Given the description of an element on the screen output the (x, y) to click on. 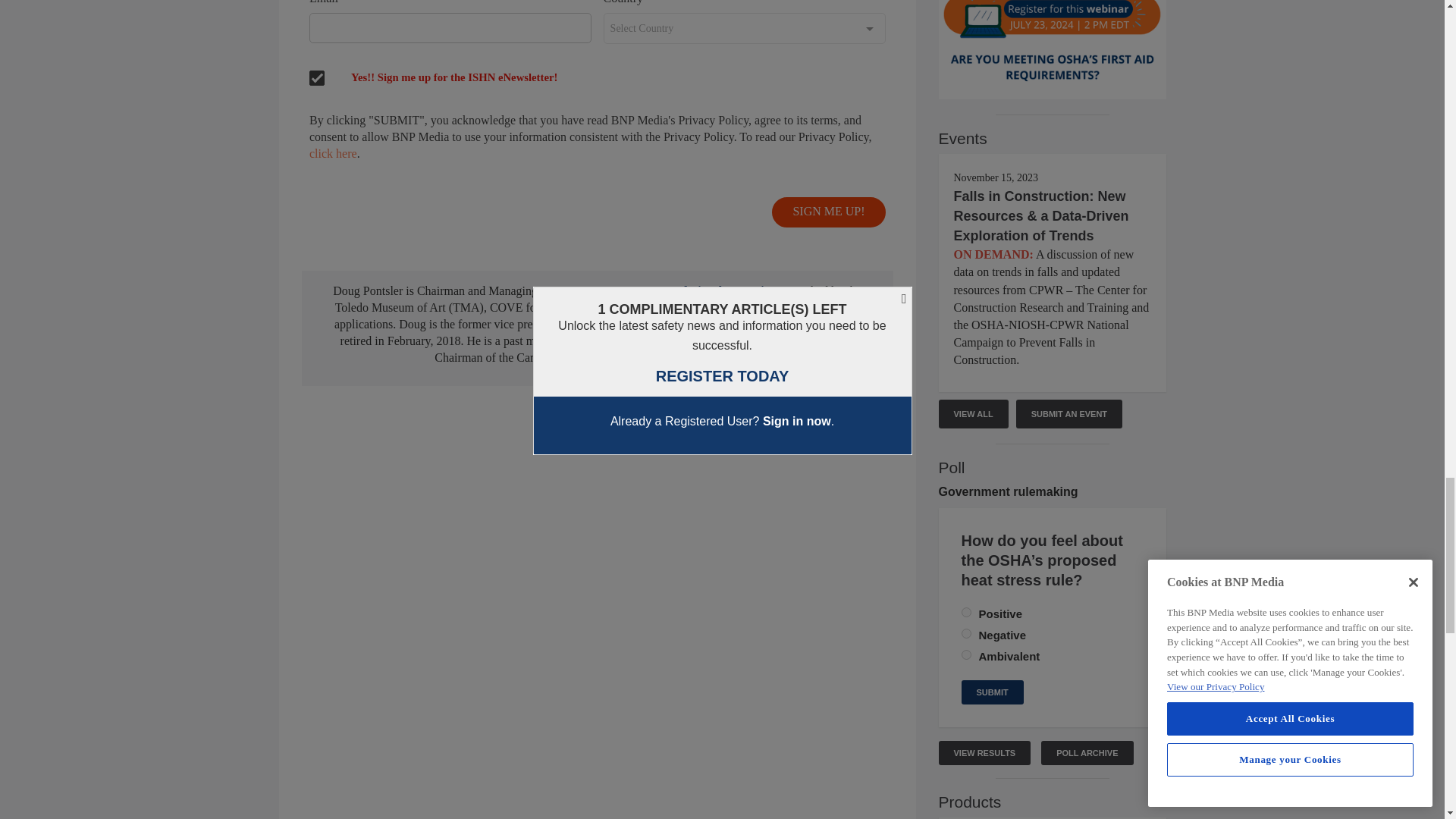
Submit (991, 692)
142 (965, 612)
144 (965, 655)
143 (965, 633)
